Given the description of an element on the screen output the (x, y) to click on. 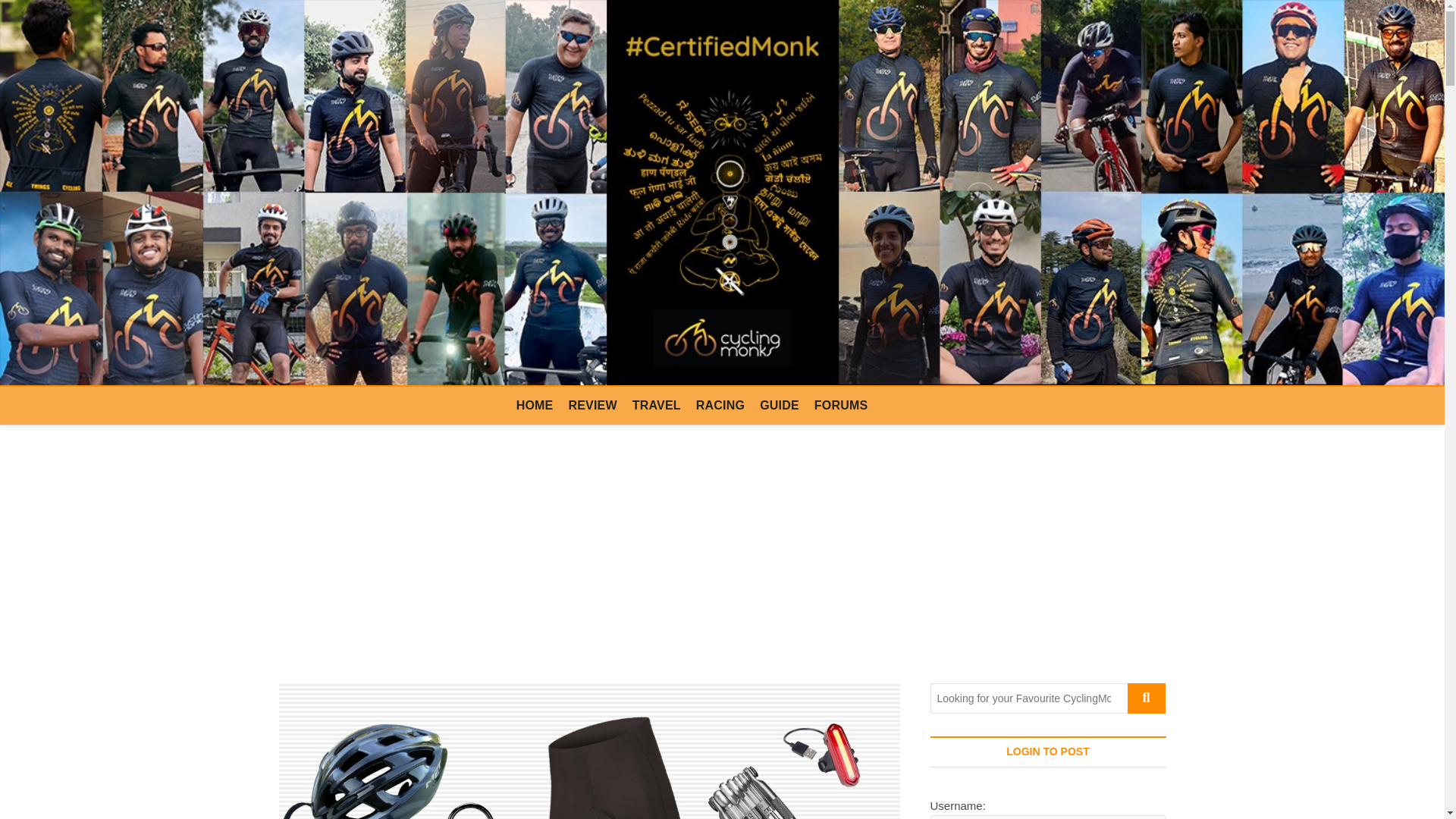
GUIDE (779, 405)
TRAVEL (656, 405)
HOME (534, 405)
FORUMS (841, 405)
RACING (720, 405)
REVIEW (592, 405)
